Given the description of an element on the screen output the (x, y) to click on. 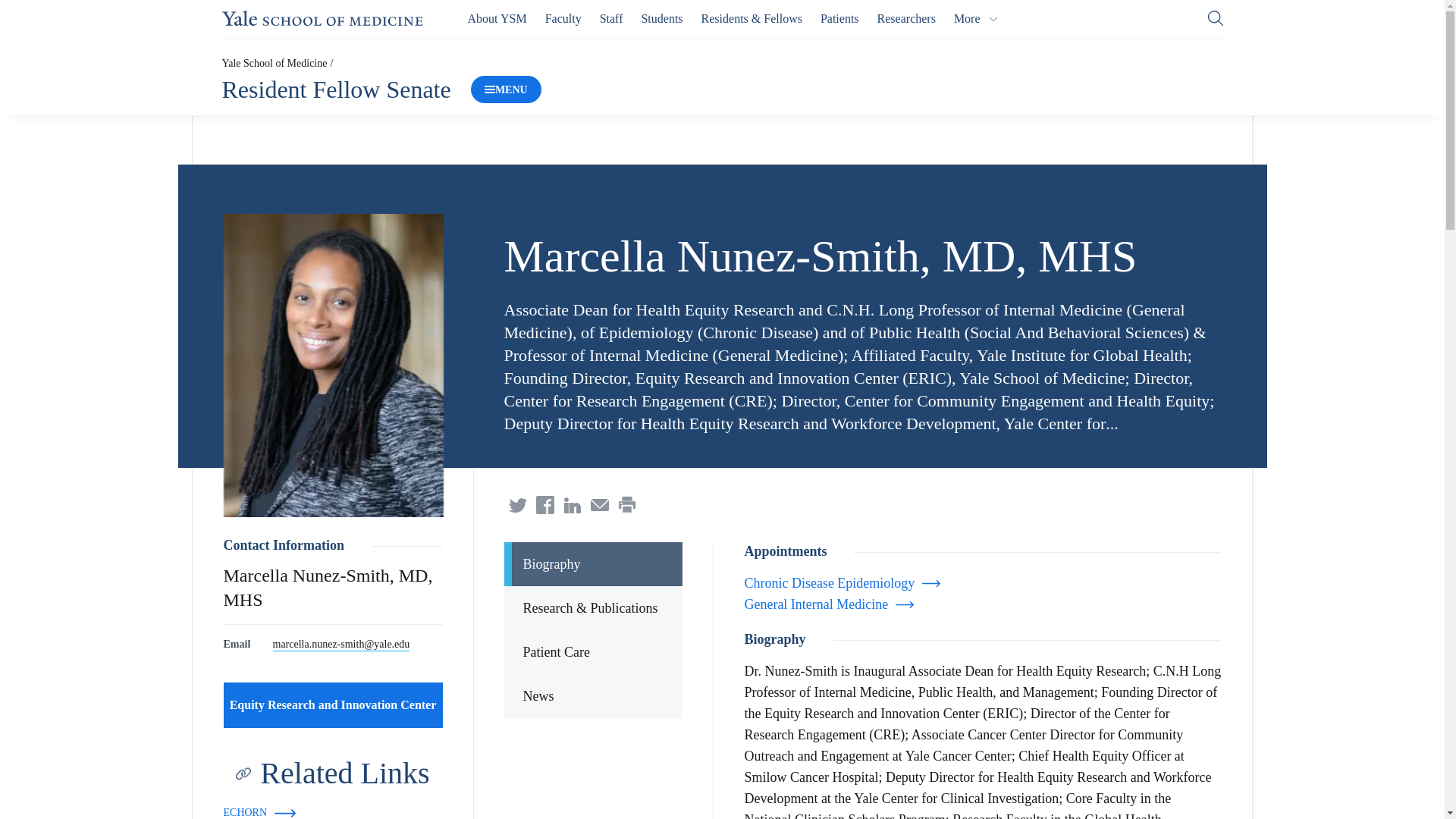
MENU (505, 89)
Yale School of Medicine (321, 18)
Resident Fellow Senate (335, 89)
Yale School of Medicine (321, 17)
Researchers (906, 18)
Yale School of Medicine (273, 62)
More (975, 18)
Students (661, 18)
Staff (611, 18)
About YSM (497, 18)
Faculty (562, 18)
Patients (840, 18)
